Given the description of an element on the screen output the (x, y) to click on. 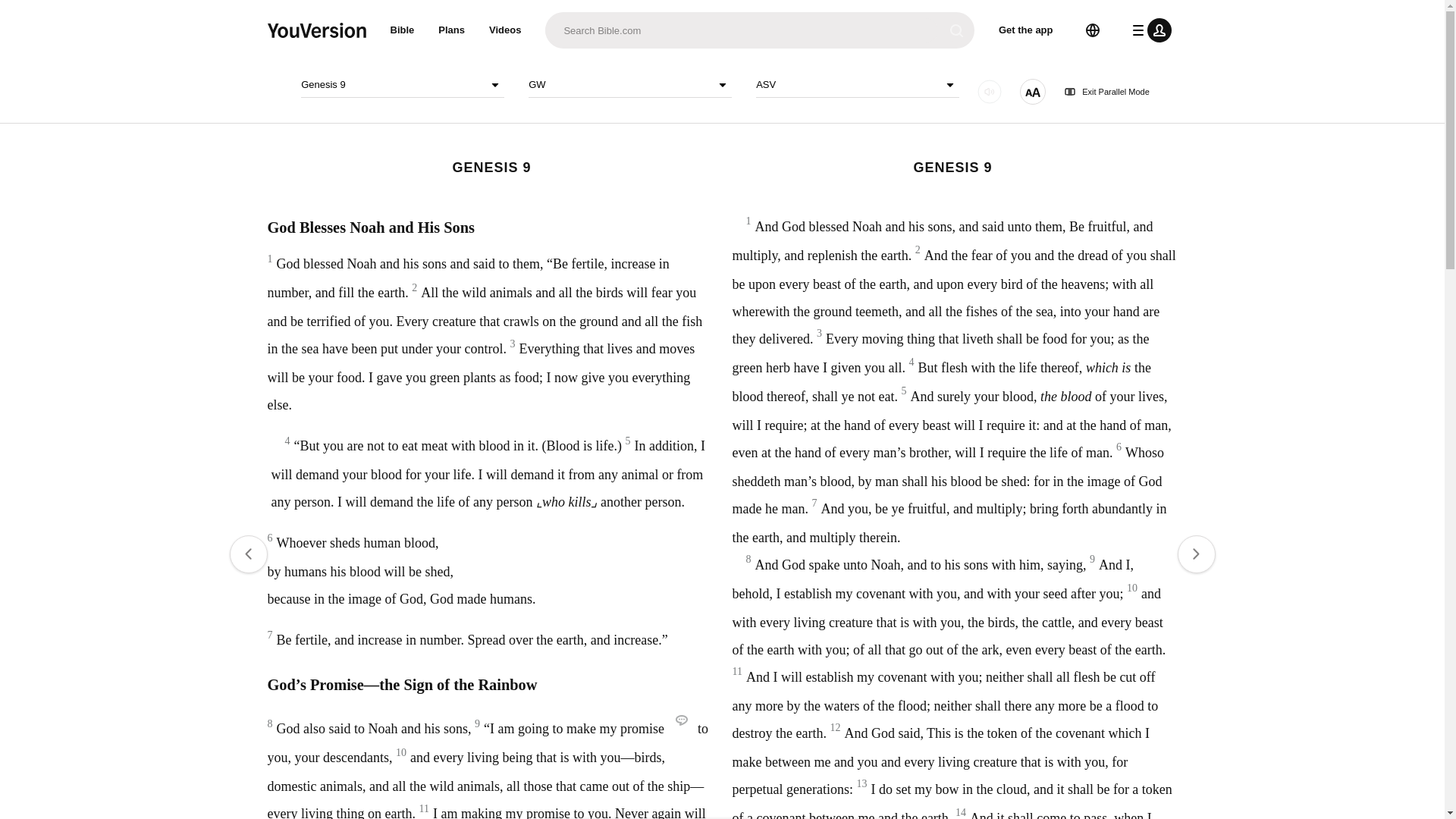
Language Selector (14, 107)
Search Icon (14, 128)
READER SETTINGS (20, 395)
YouVersion Logo (54, 16)
READER SETTINGS (20, 396)
AUDIO (20, 370)
ASV (22, 245)
AUDIO (134, 323)
Exit Parallel Mode (60, 422)
Bible (16, 30)
